Given the description of an element on the screen output the (x, y) to click on. 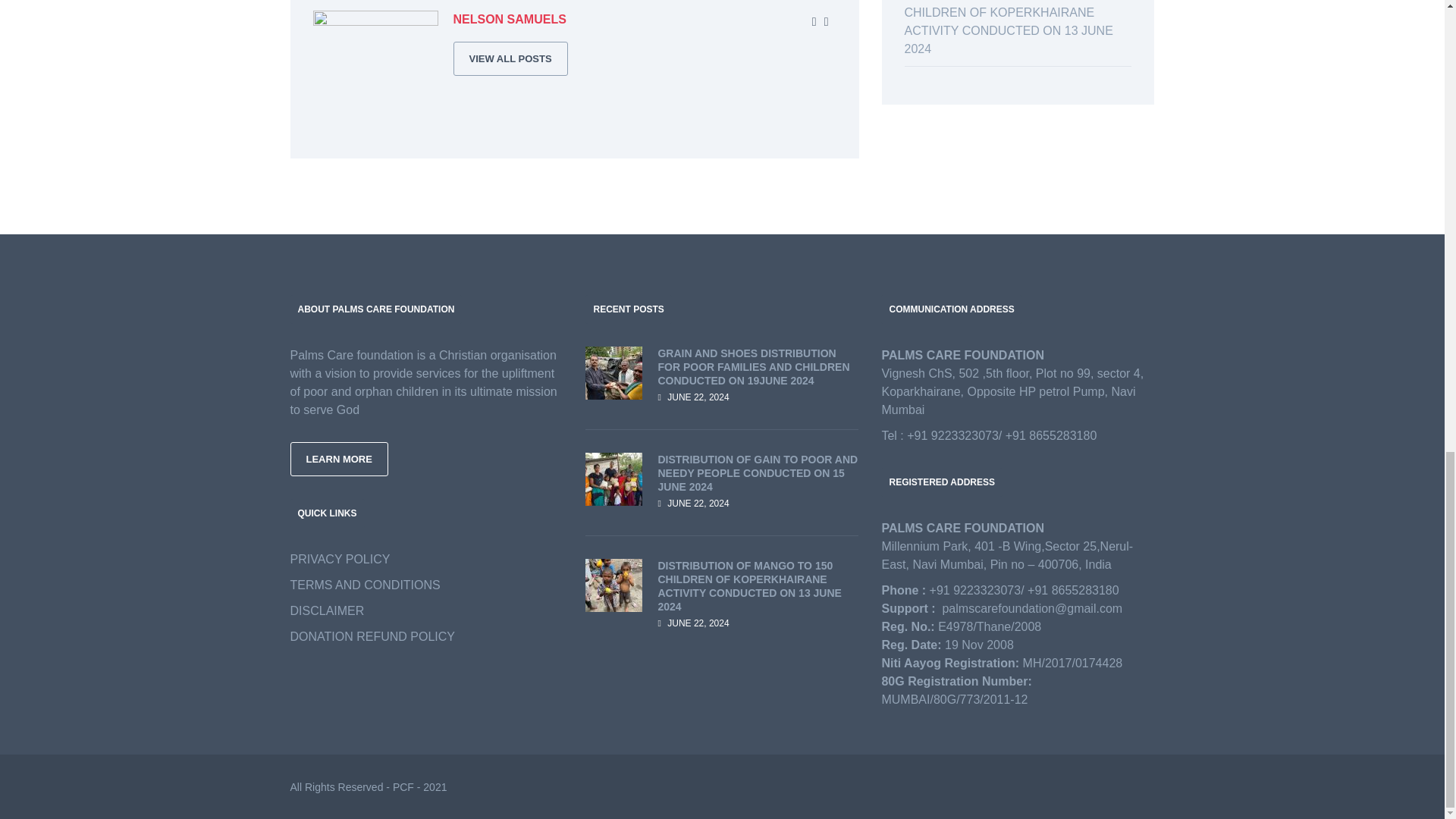
All posts by author (509, 58)
PRIVACY POLICY (339, 558)
RSS (826, 21)
Website (814, 21)
